Given the description of an element on the screen output the (x, y) to click on. 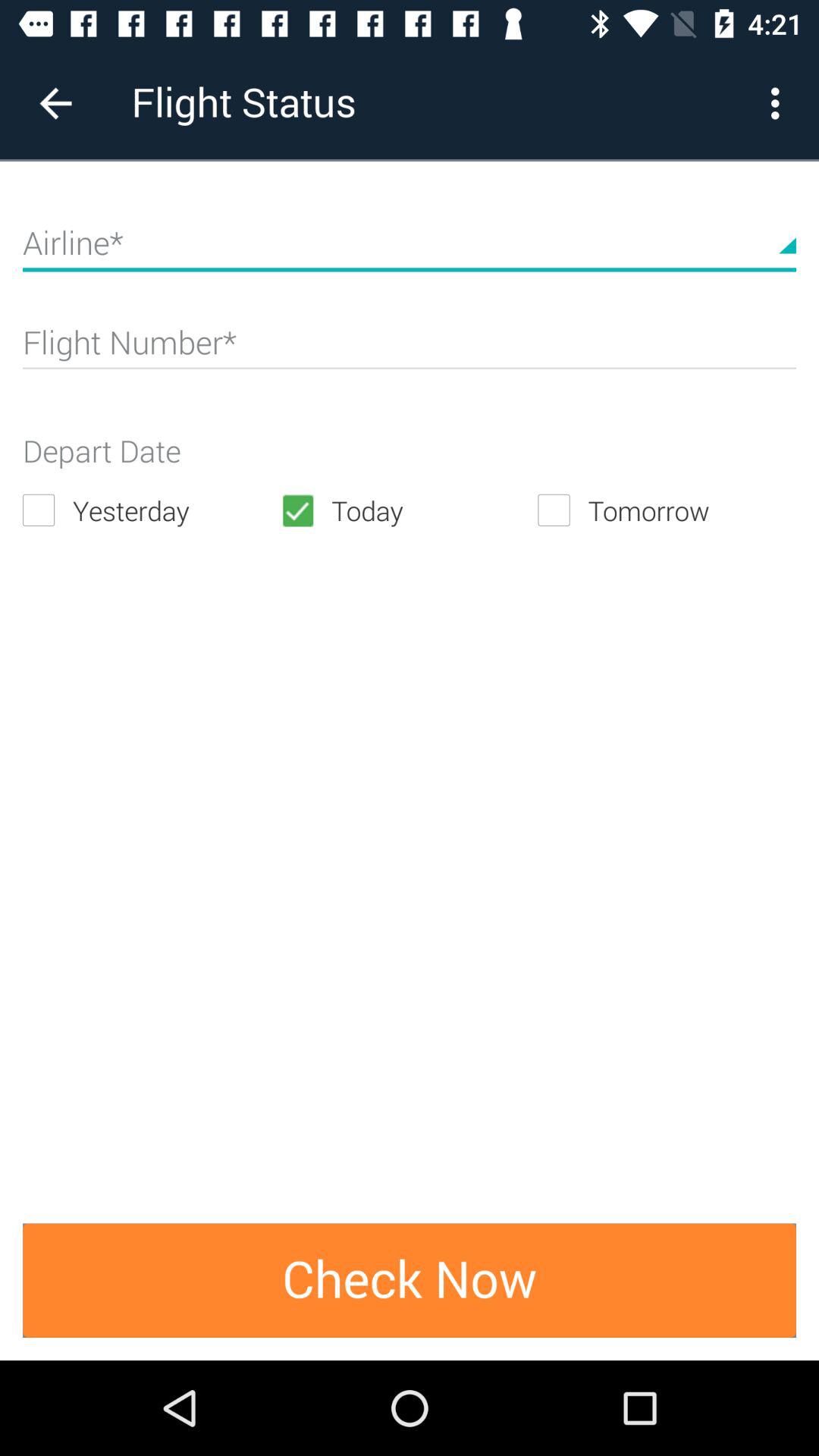
press the icon to the right of today (667, 510)
